Given the description of an element on the screen output the (x, y) to click on. 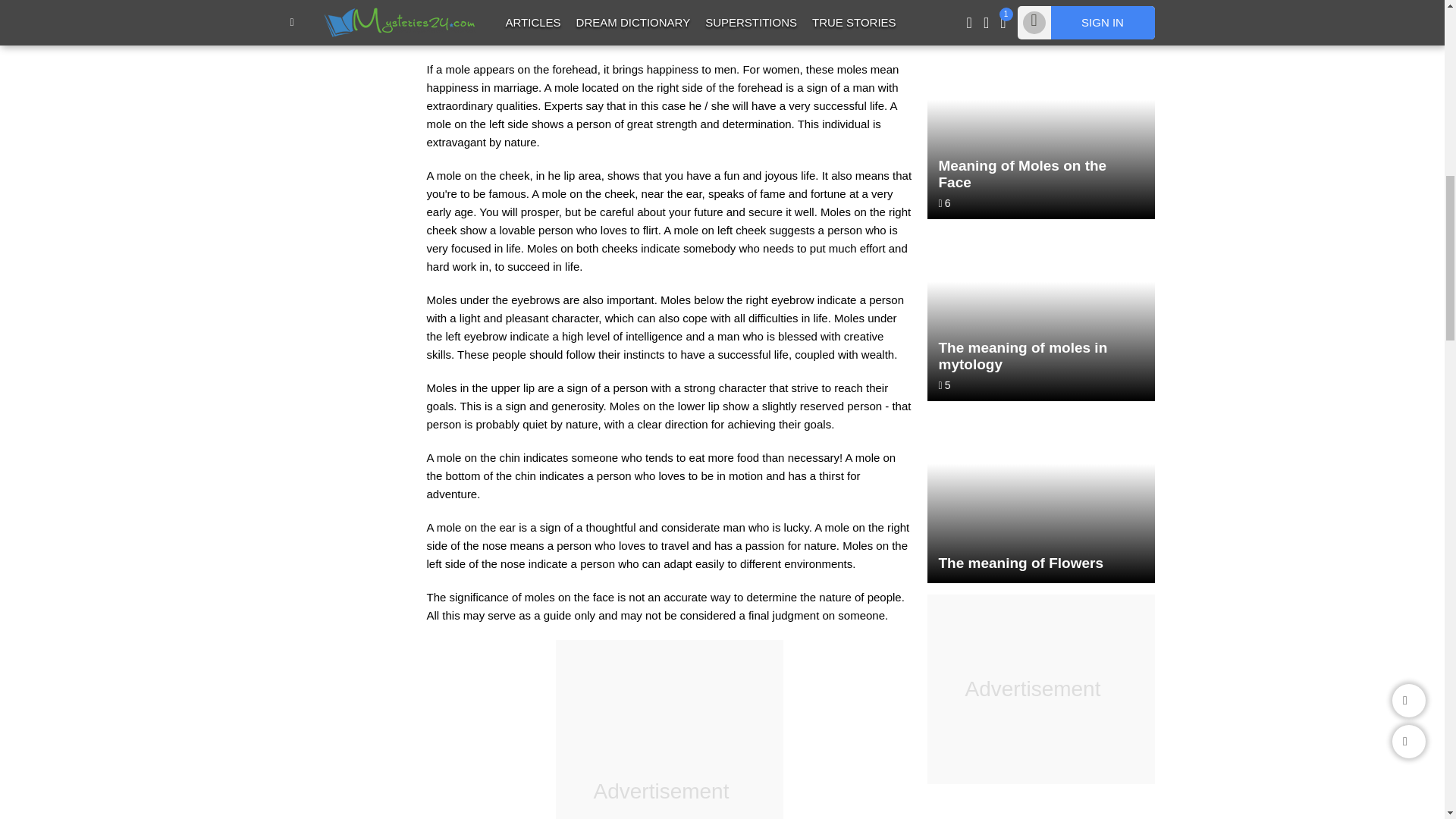
Meaning of Moles on the Face (1040, 133)
Meaning of colors on our body (1040, 807)
The meaning of Flowers (1040, 497)
The meaning of moles in mytology (1040, 315)
